Given the description of an element on the screen output the (x, y) to click on. 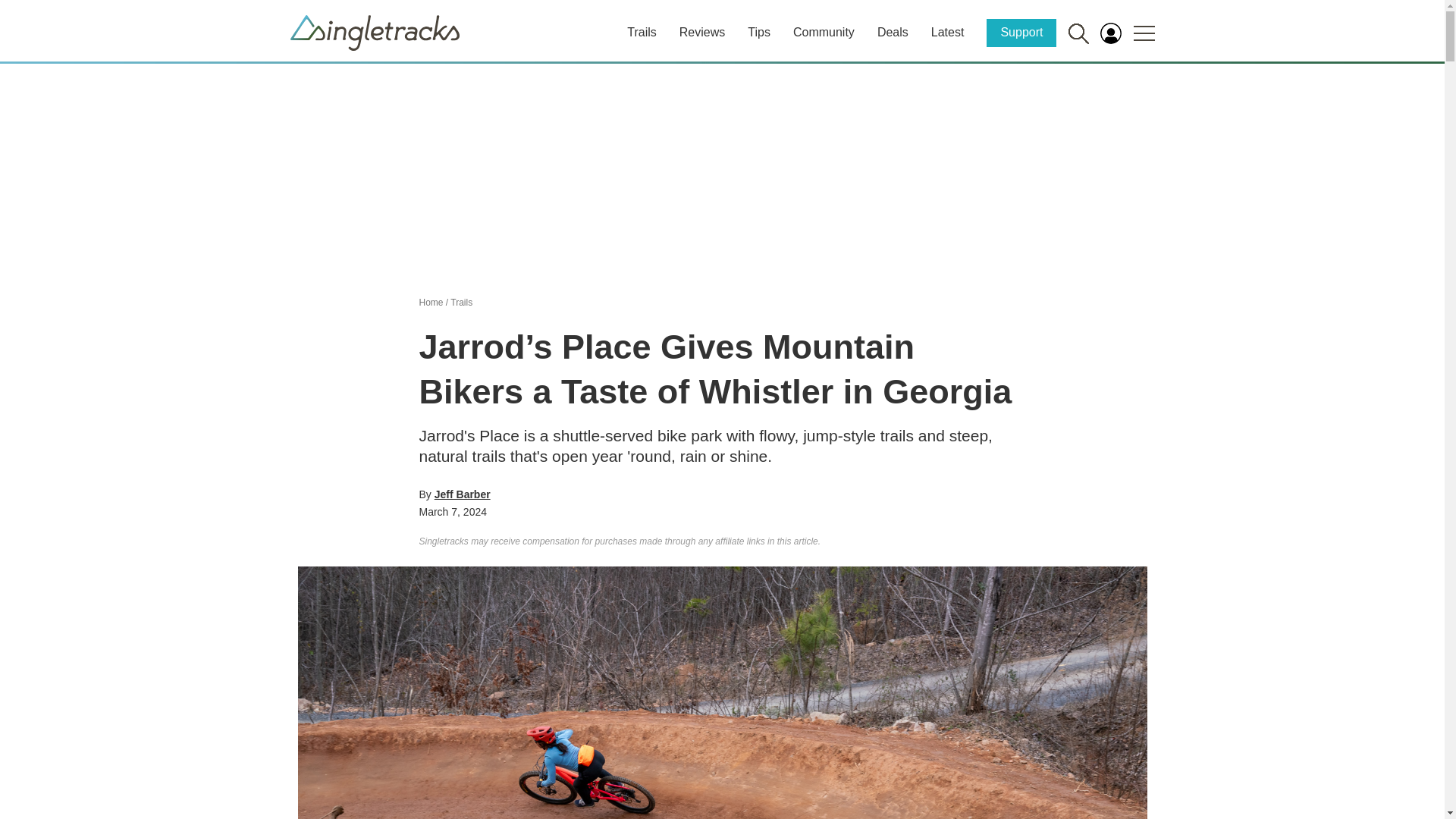
Tips (759, 31)
Latest (947, 31)
Support (1022, 32)
Reviews (702, 31)
View all posts by Jeff Barber (461, 494)
Community (823, 31)
Deals (892, 31)
Trails (641, 31)
